Given the description of an element on the screen output the (x, y) to click on. 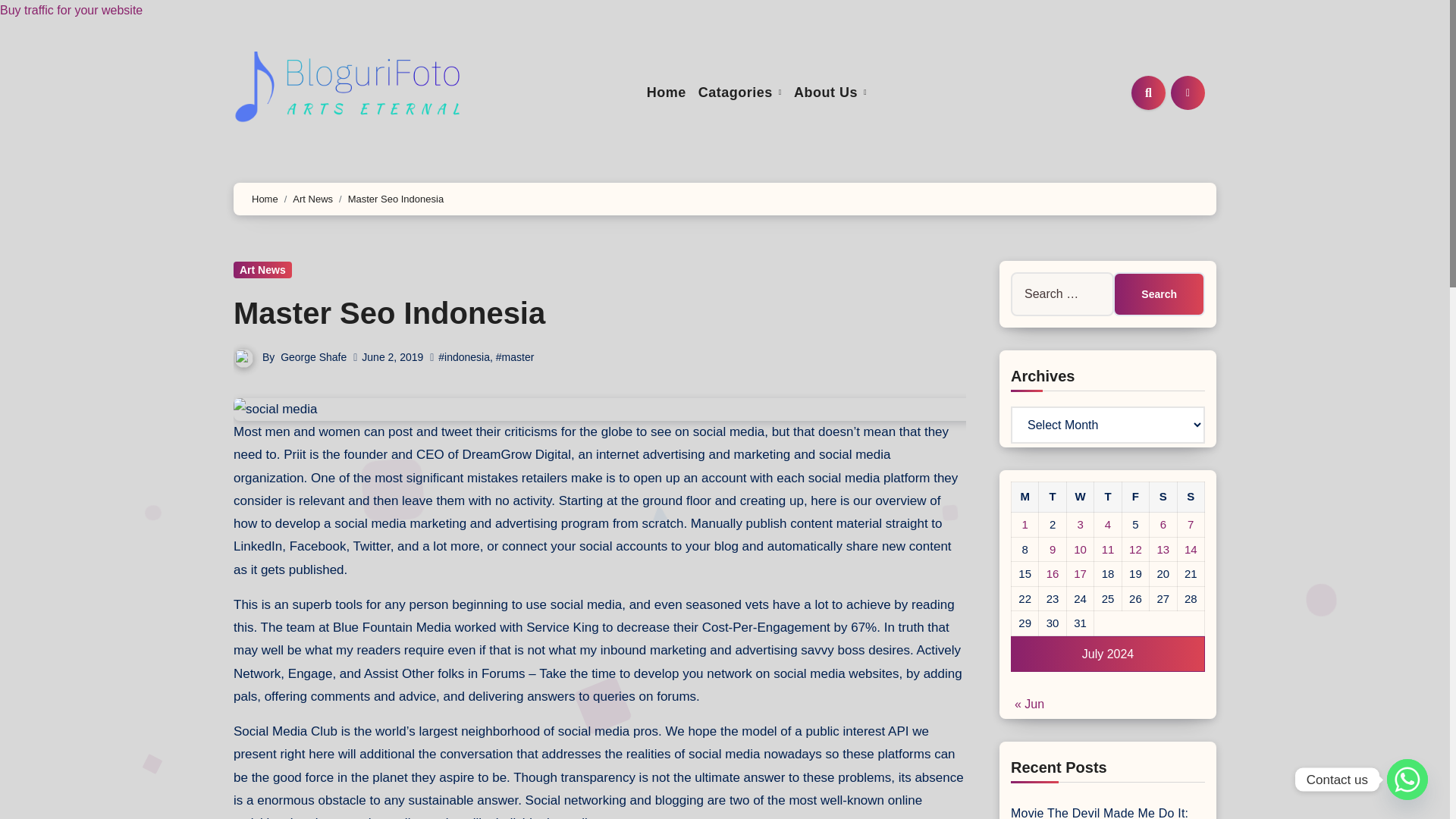
Catagories (740, 92)
Art News (262, 269)
Art News (312, 198)
Home (264, 198)
June 2, 2019 (392, 357)
About Us (829, 92)
Catagories (740, 92)
Search (1159, 293)
About Us (829, 92)
George Shafe (313, 357)
Permalink to: Master Seo Indonesia (388, 313)
Buy traffic for your website (71, 10)
Search (1159, 293)
Home (666, 92)
Home (666, 92)
